Given the description of an element on the screen output the (x, y) to click on. 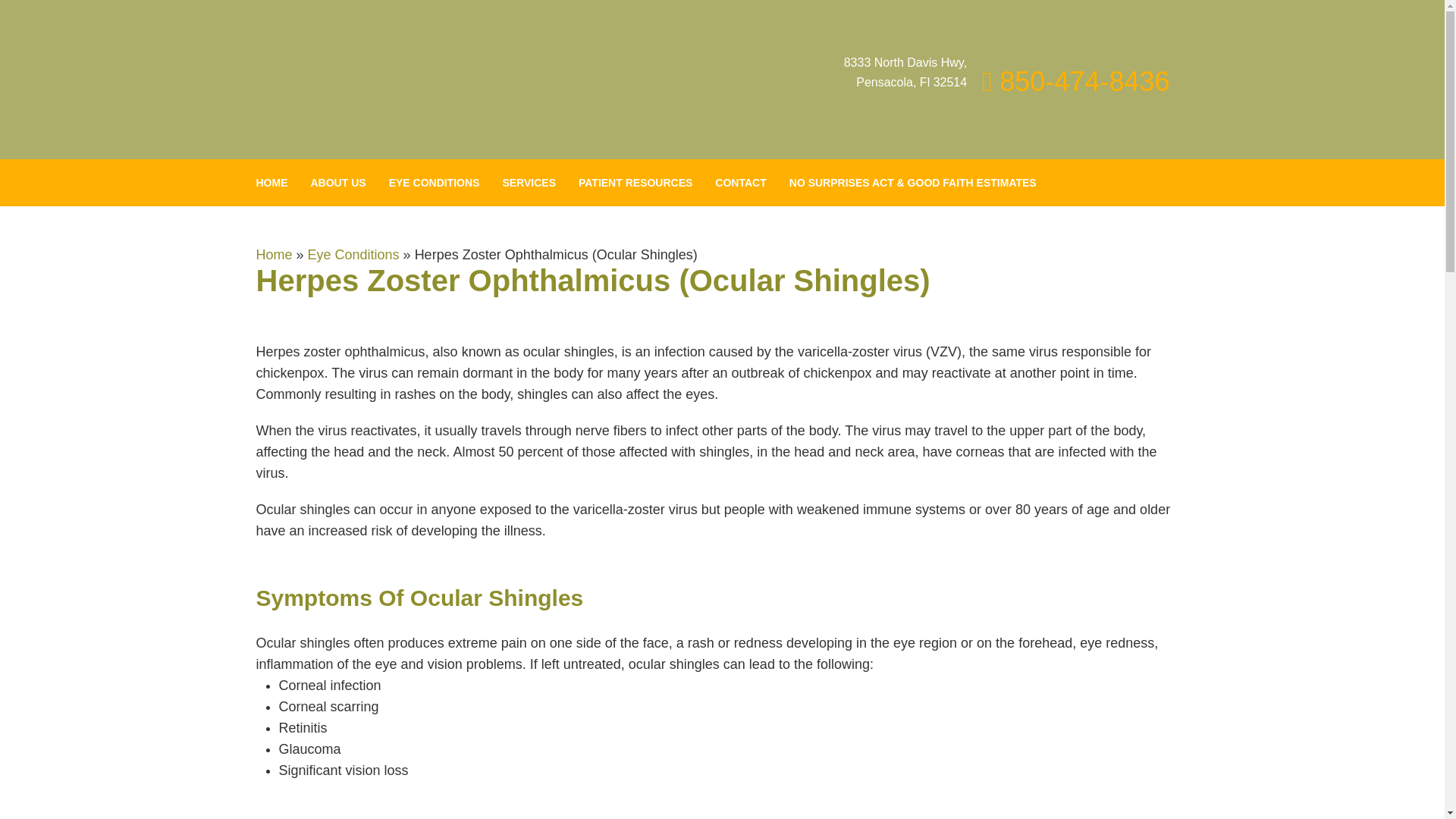
HOME (277, 182)
850-474-8436 (1075, 81)
ABOUT US (337, 182)
EYE CONDITIONS (434, 182)
